Given the description of an element on the screen output the (x, y) to click on. 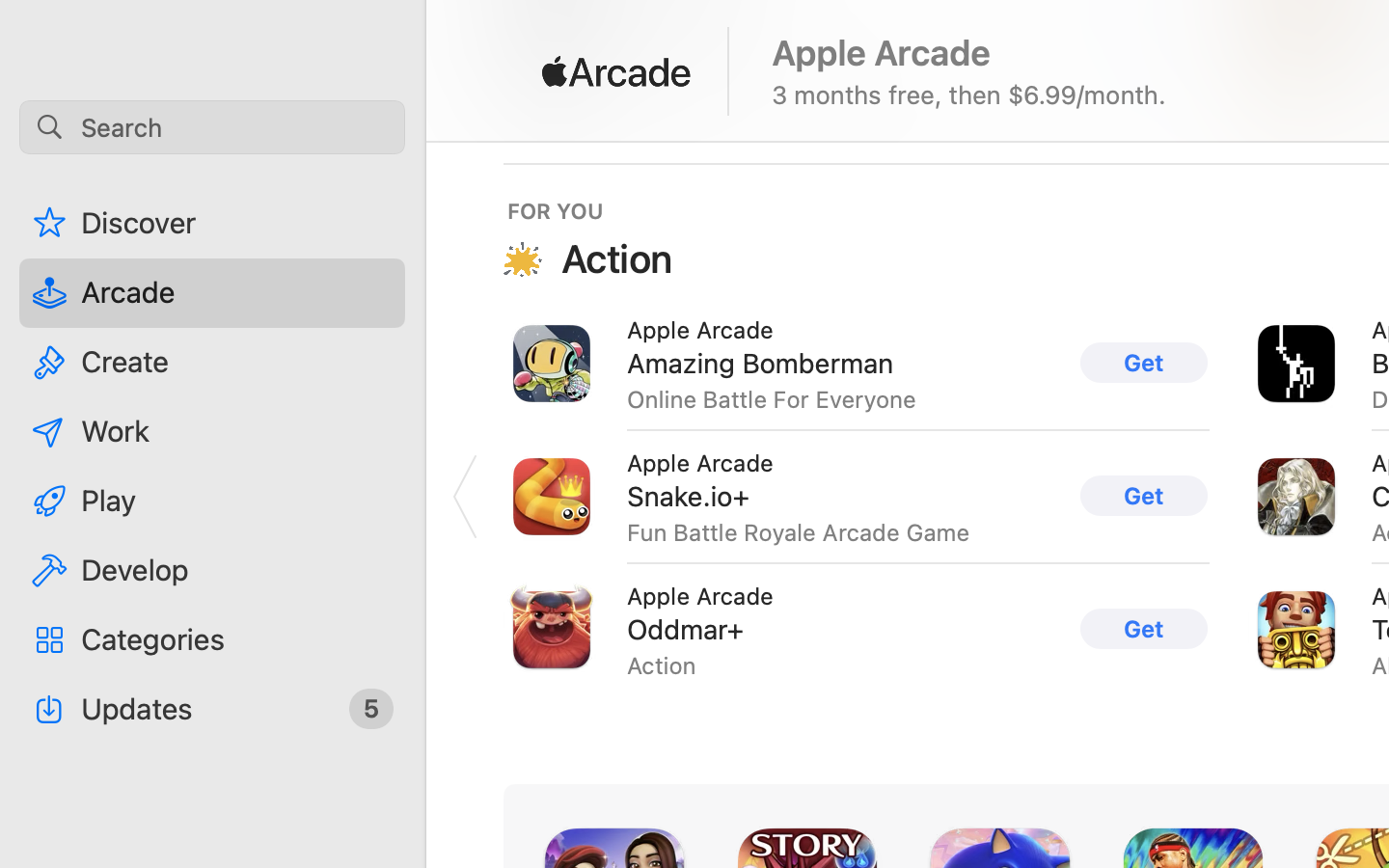
3 months free, then $6.99/month. Element type: AXStaticText (969, 94)
Action Element type: AXStaticText (617, 258)
FOR YOU Element type: AXStaticText (555, 209)
